Given the description of an element on the screen output the (x, y) to click on. 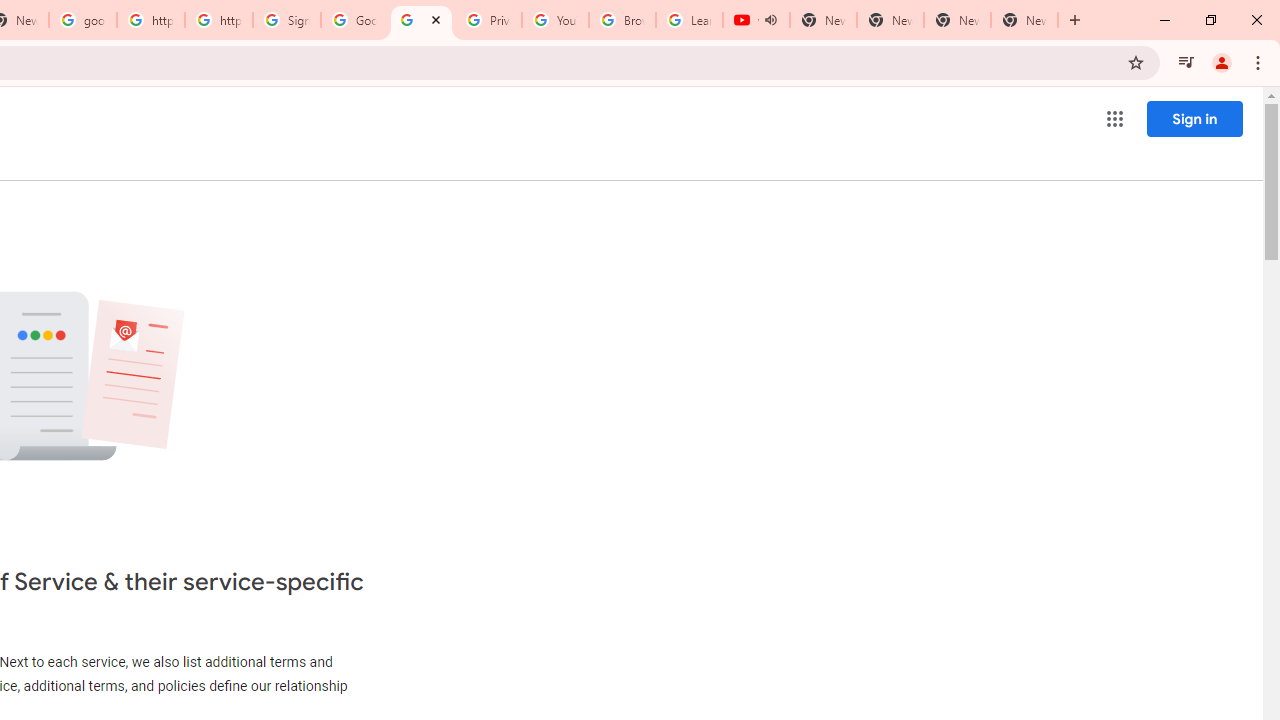
https://scholar.google.com/ (219, 20)
New Tab (1024, 20)
